Given the description of an element on the screen output the (x, y) to click on. 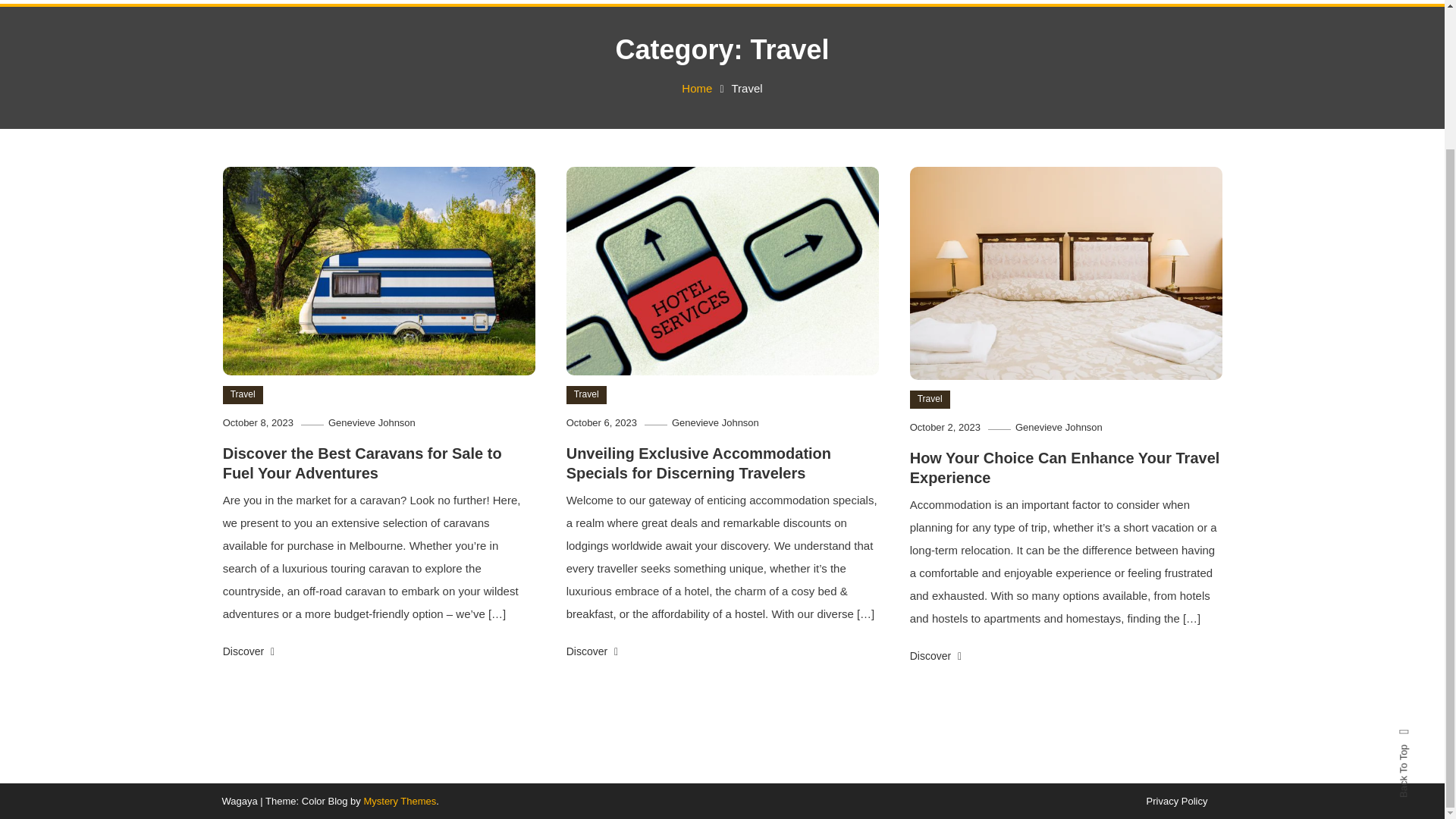
October 2, 2023 (944, 427)
Genevieve Johnson (1058, 427)
PRIVACY POLICY (440, 2)
Travel (930, 399)
October 6, 2023 (601, 422)
How Your Choice Can Enhance Your Travel Experience (1065, 467)
Discover (248, 651)
GET IN TOUCH (325, 2)
Travel (242, 394)
Genevieve Johnson (371, 422)
